Given the description of an element on the screen output the (x, y) to click on. 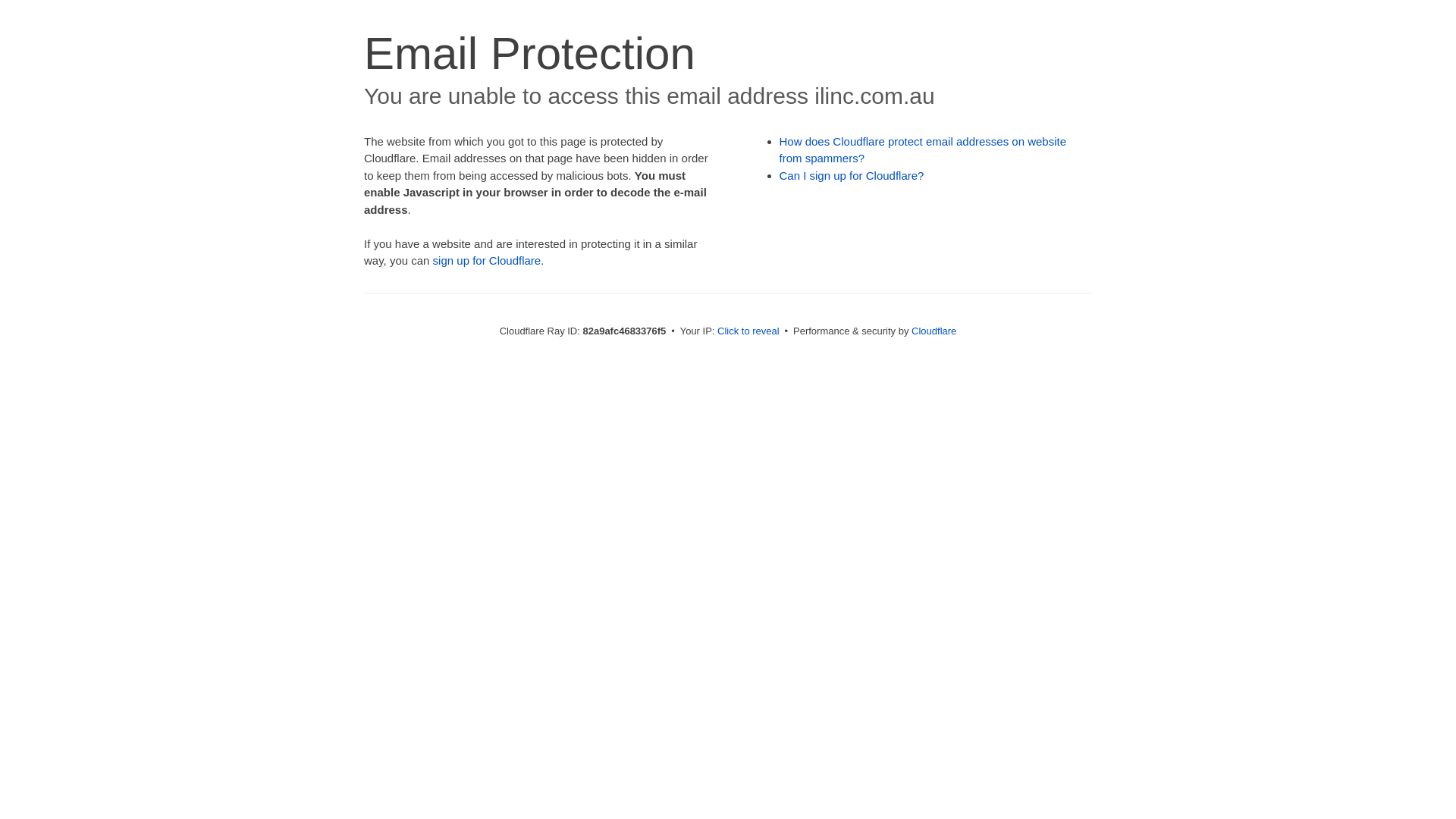
Cloudflare Element type: text (933, 330)
Click to reveal Element type: text (748, 330)
Can I sign up for Cloudflare? Element type: text (851, 175)
sign up for Cloudflare Element type: text (487, 260)
